Given the description of an element on the screen output the (x, y) to click on. 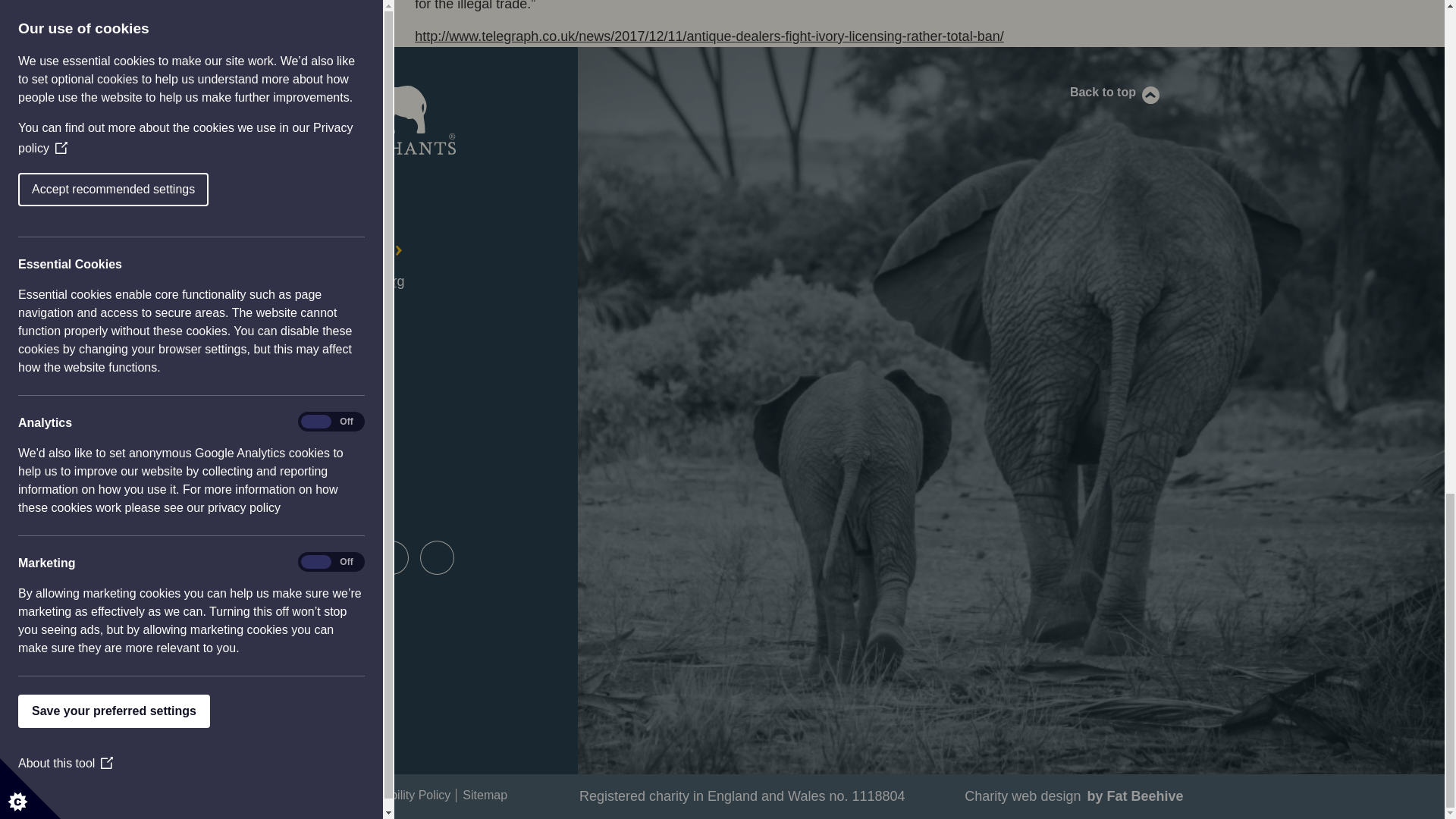
Twitter (301, 556)
Instagram (346, 556)
Linkedin (437, 556)
Youtube (391, 556)
Facebook (254, 556)
